Given the description of an element on the screen output the (x, y) to click on. 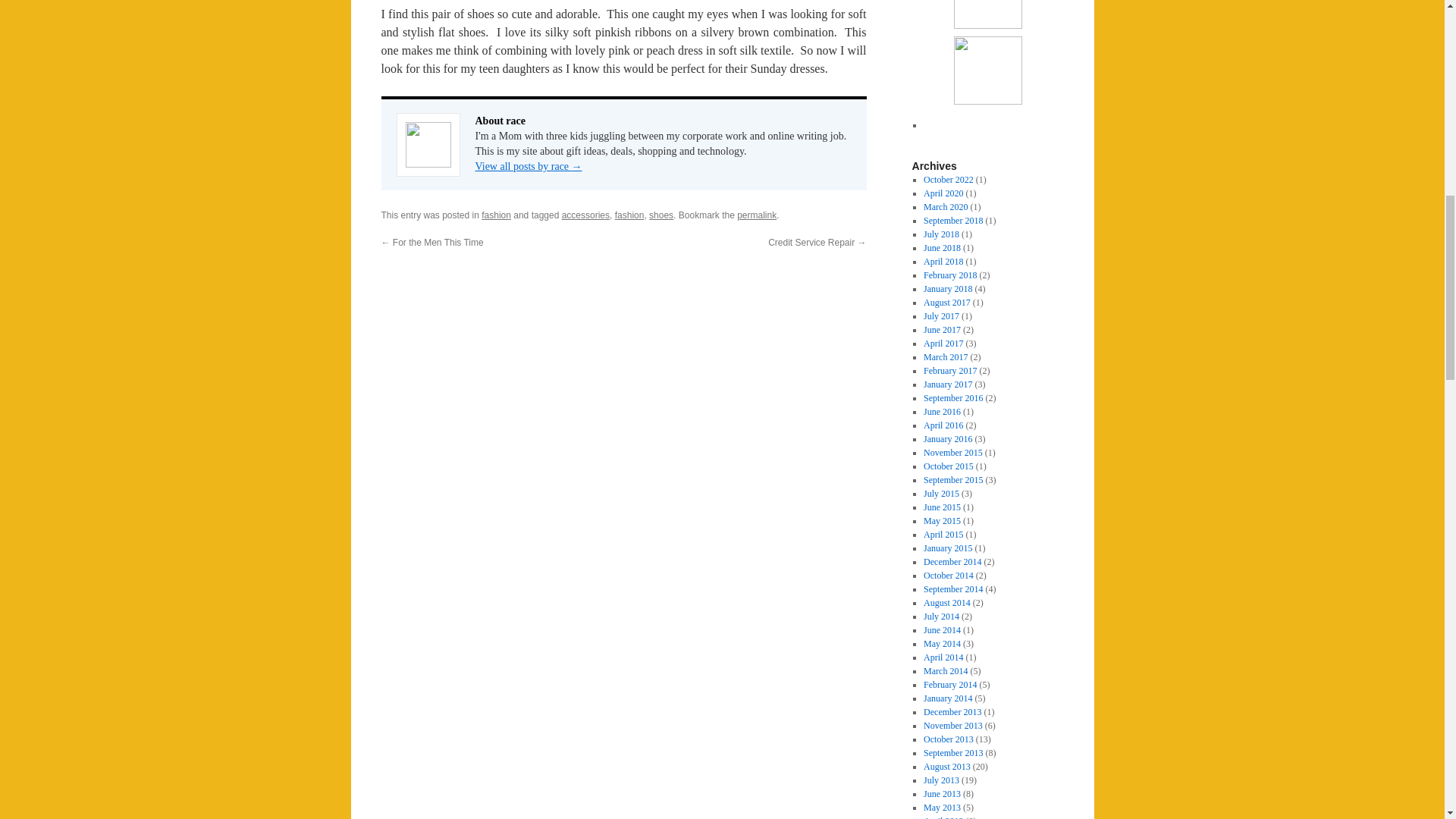
September 2018 (952, 220)
fashion (629, 214)
October 2022 (948, 179)
fashion (496, 214)
permalink (756, 214)
Permalink to Soft Adorable Shoes (756, 214)
July 2018 (941, 234)
April 2020 (942, 193)
March 2020 (945, 206)
shoes (660, 214)
